Given the description of an element on the screen output the (x, y) to click on. 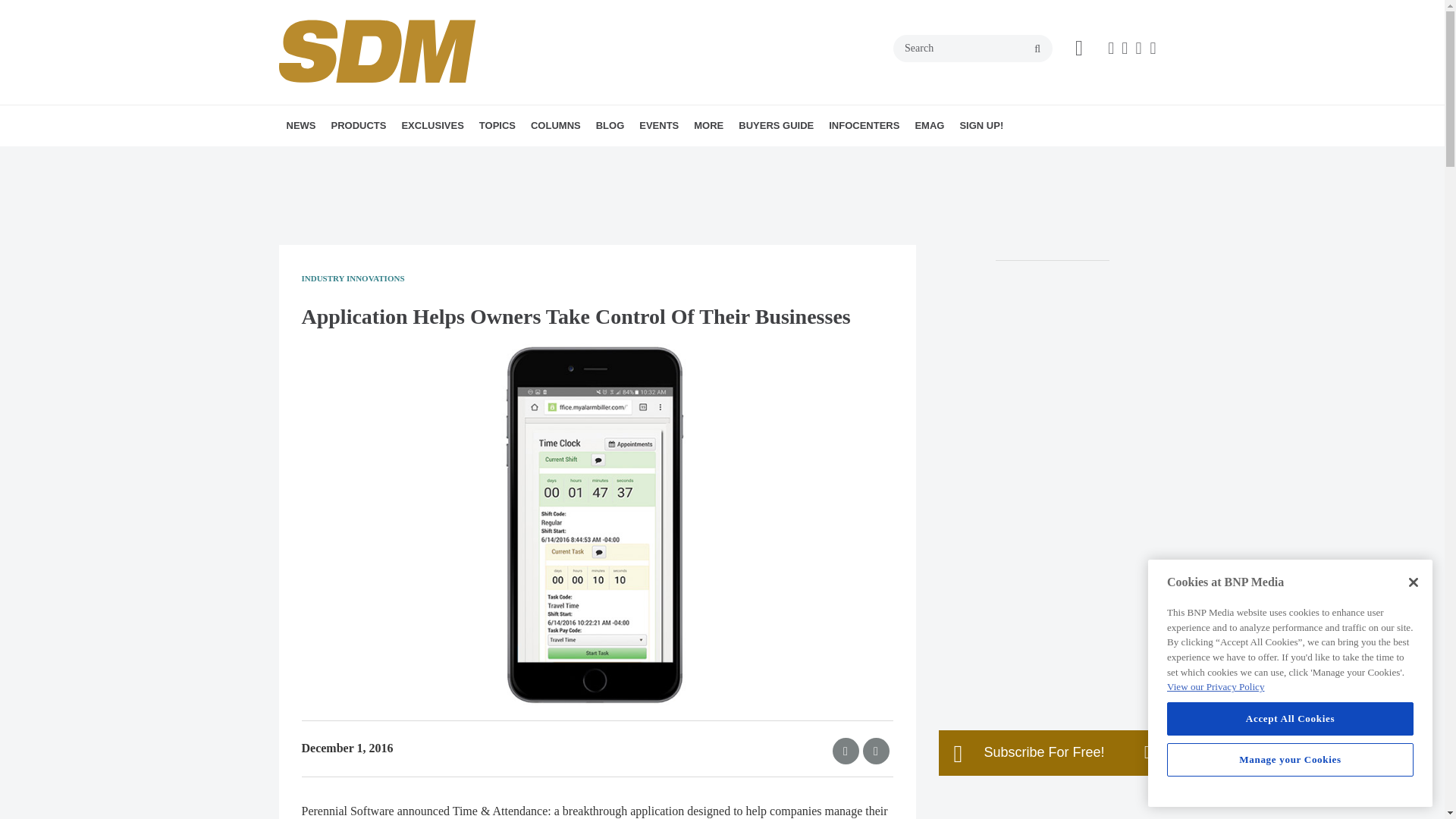
EDITOR'S ANGLE (625, 158)
VIDEO SOLUTIONS (573, 158)
STATE OF THE MARKET SERIES (510, 158)
TOP SYSTEMS INTEGRATOR REPORT (496, 167)
NEWS (301, 125)
MARKETING MADMEN (641, 158)
COLUMNS (555, 125)
MORE SDM TOPICS (592, 158)
INTEGRATION SPOTLIGHT (636, 158)
SYSTEMS INTEGRATOR OF THE YEAR (519, 167)
